Given the description of an element on the screen output the (x, y) to click on. 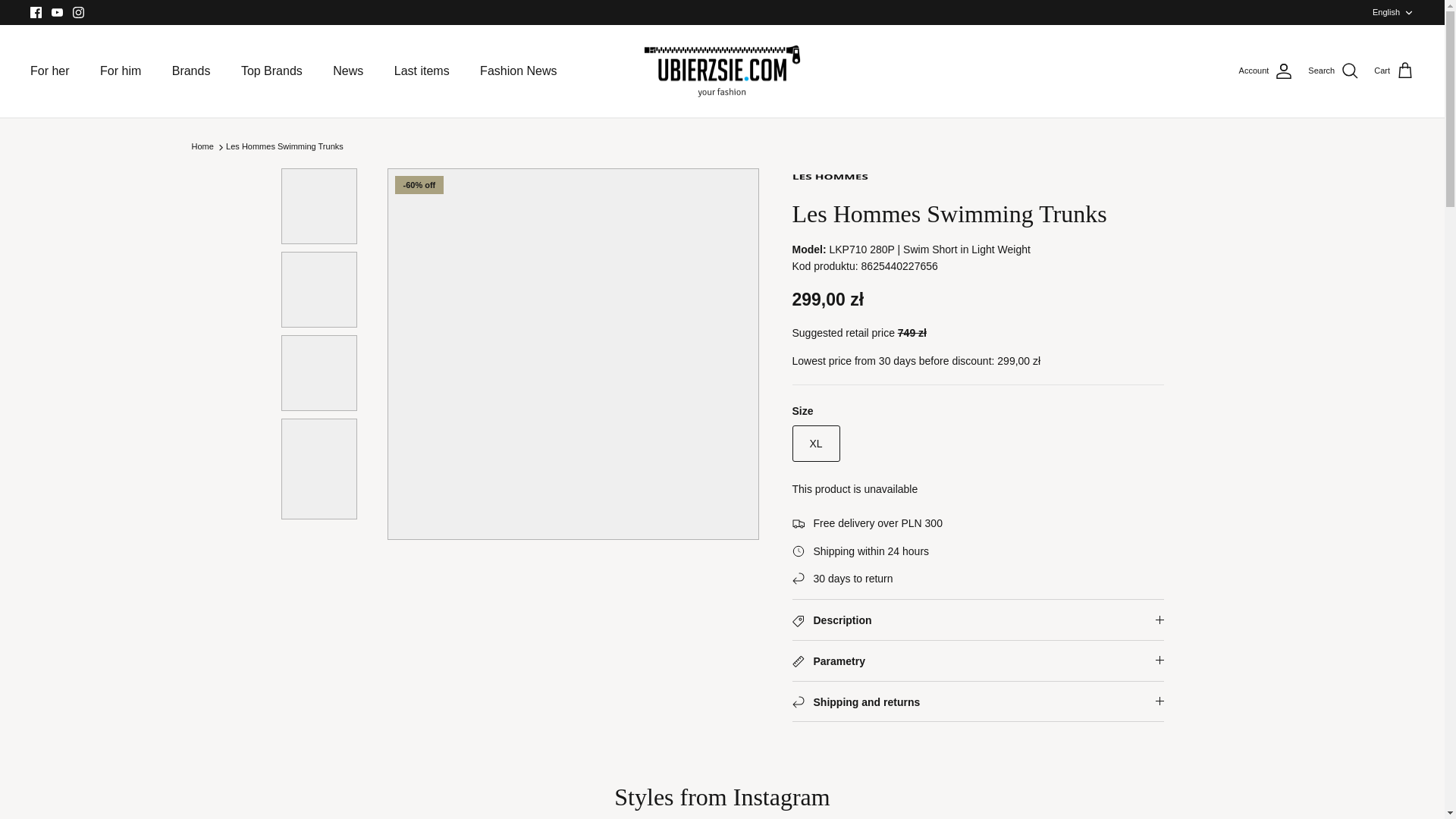
ubierzsie.com (721, 71)
Fashion News (517, 71)
Facebook (36, 12)
Facebook (36, 12)
Les Hommes (829, 180)
Top Brands (271, 71)
News (347, 71)
For him (119, 71)
Youtube (56, 12)
Account (1266, 71)
Down (1408, 12)
Cart (1393, 12)
Last items (1393, 71)
Search (421, 71)
